Given the description of an element on the screen output the (x, y) to click on. 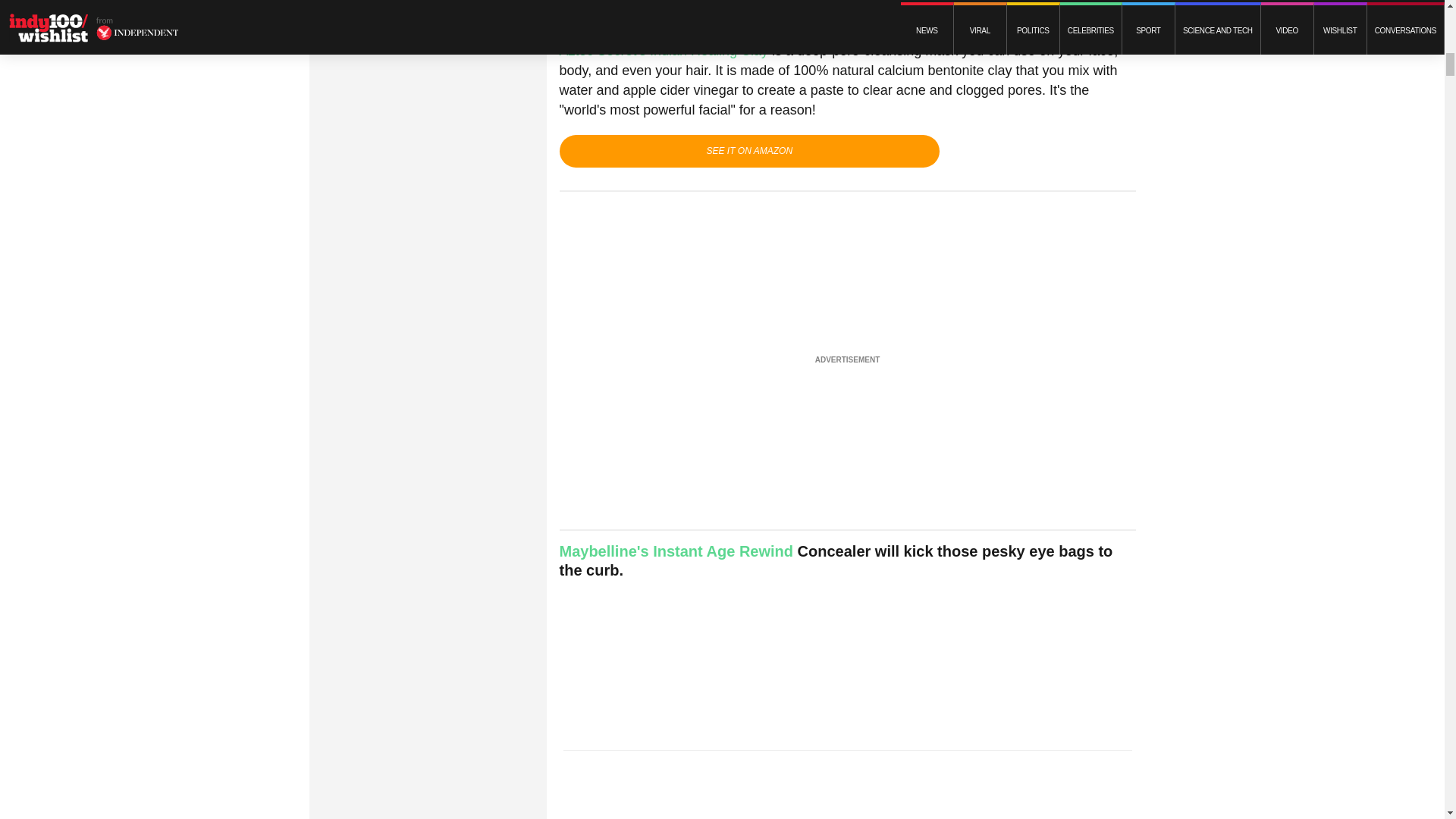
Aztec Secret's Indian Healing Clay (666, 50)
Amazon.com (1108, 13)
Buy Now (749, 151)
Maybelline's Instant Age Rewind (676, 550)
